Given the description of an element on the screen output the (x, y) to click on. 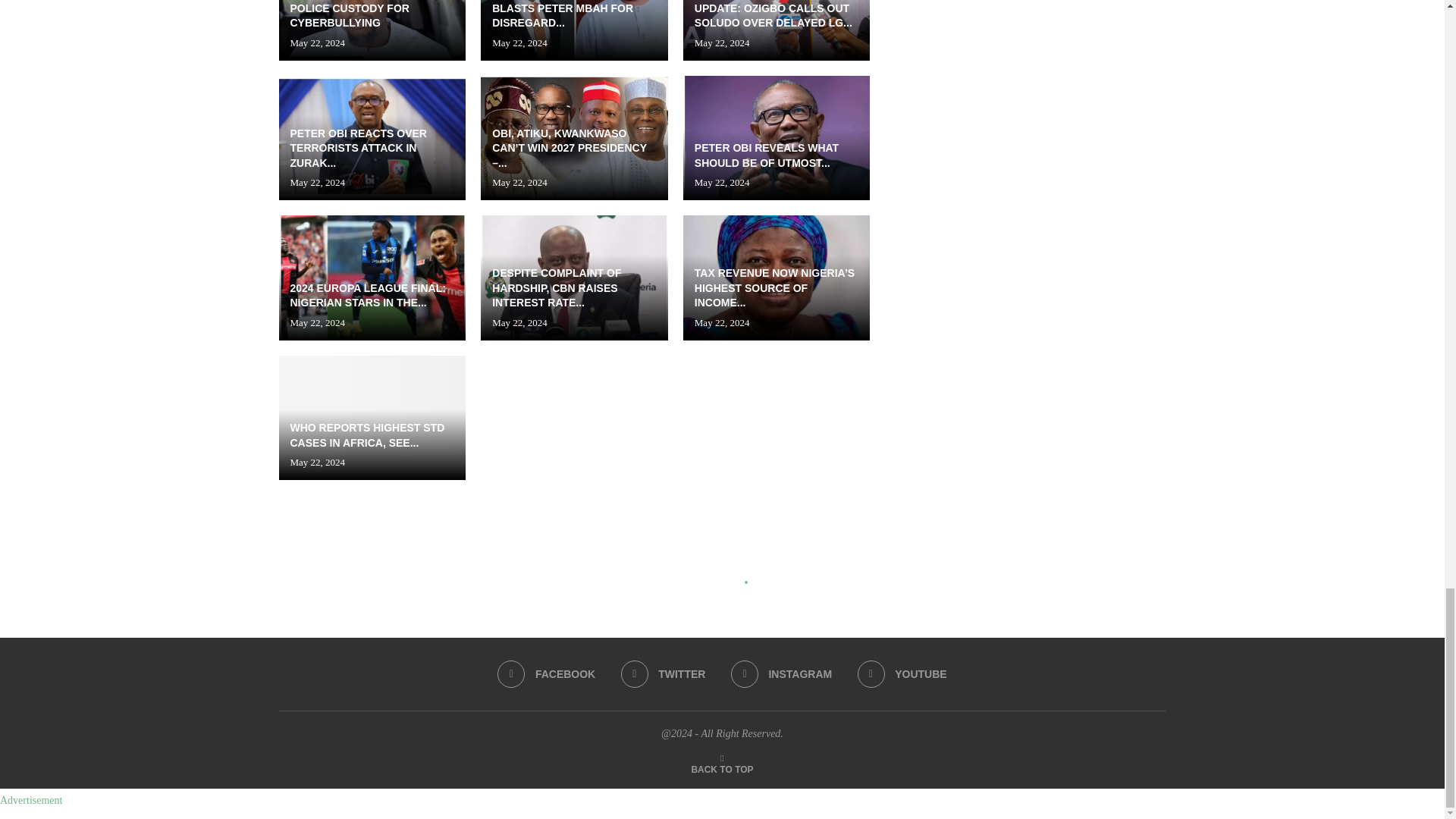
UPDATE: Ozigbo Calls Out Soludo Over Delayed LG Elections (776, 30)
Verydarkman remanded in police custody for cyberbullying (372, 30)
